Given the description of an element on the screen output the (x, y) to click on. 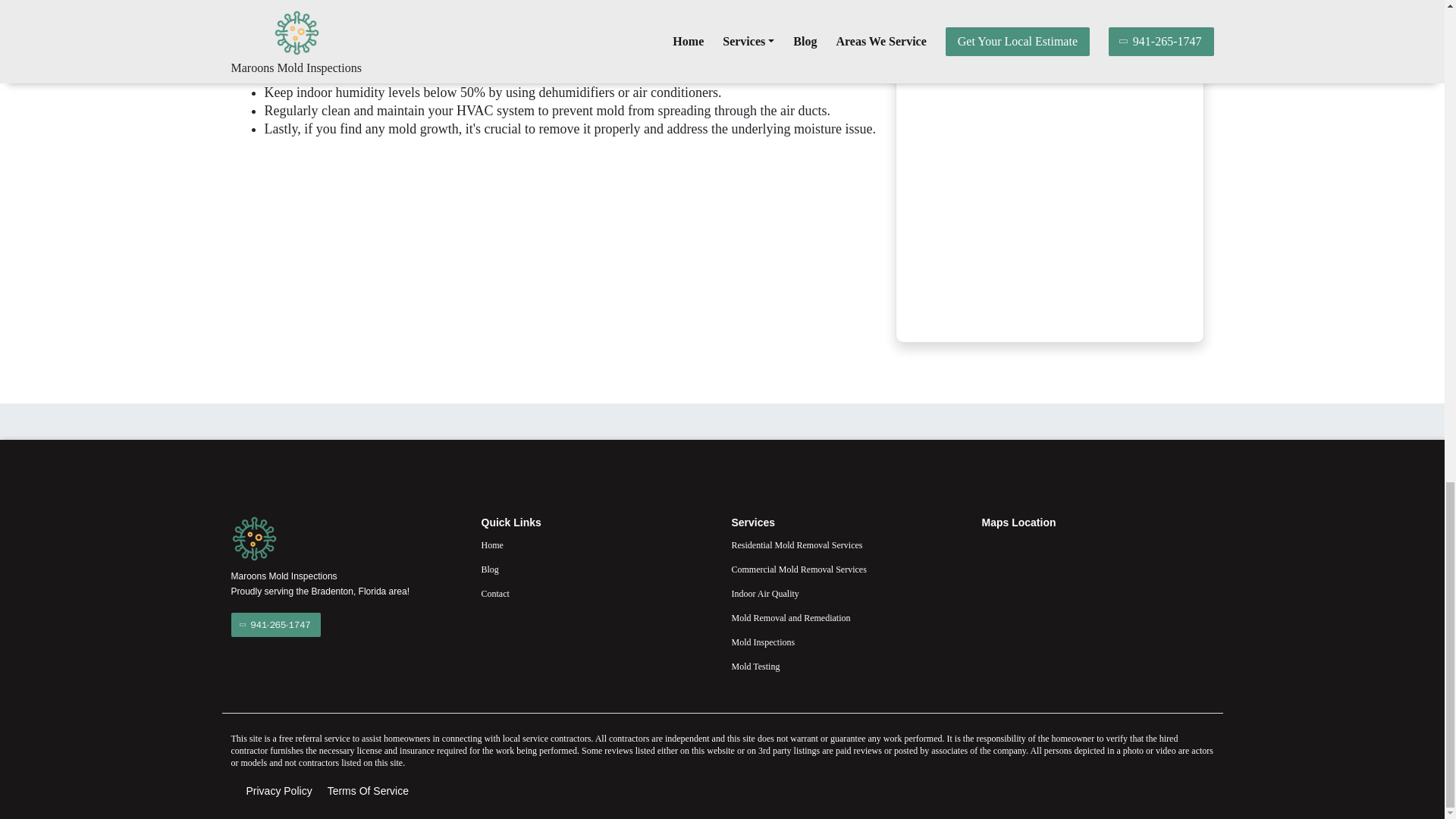
Contact (596, 593)
Mold Removal and Remediation (846, 618)
Mold Inspections (846, 642)
Home (596, 545)
Blog (596, 569)
Mold Testing (846, 666)
941-265-1747 (275, 624)
Residential Mold Removal Services (846, 545)
Commercial Mold Removal Services (846, 569)
Indoor Air Quality (846, 593)
